Given the description of an element on the screen output the (x, y) to click on. 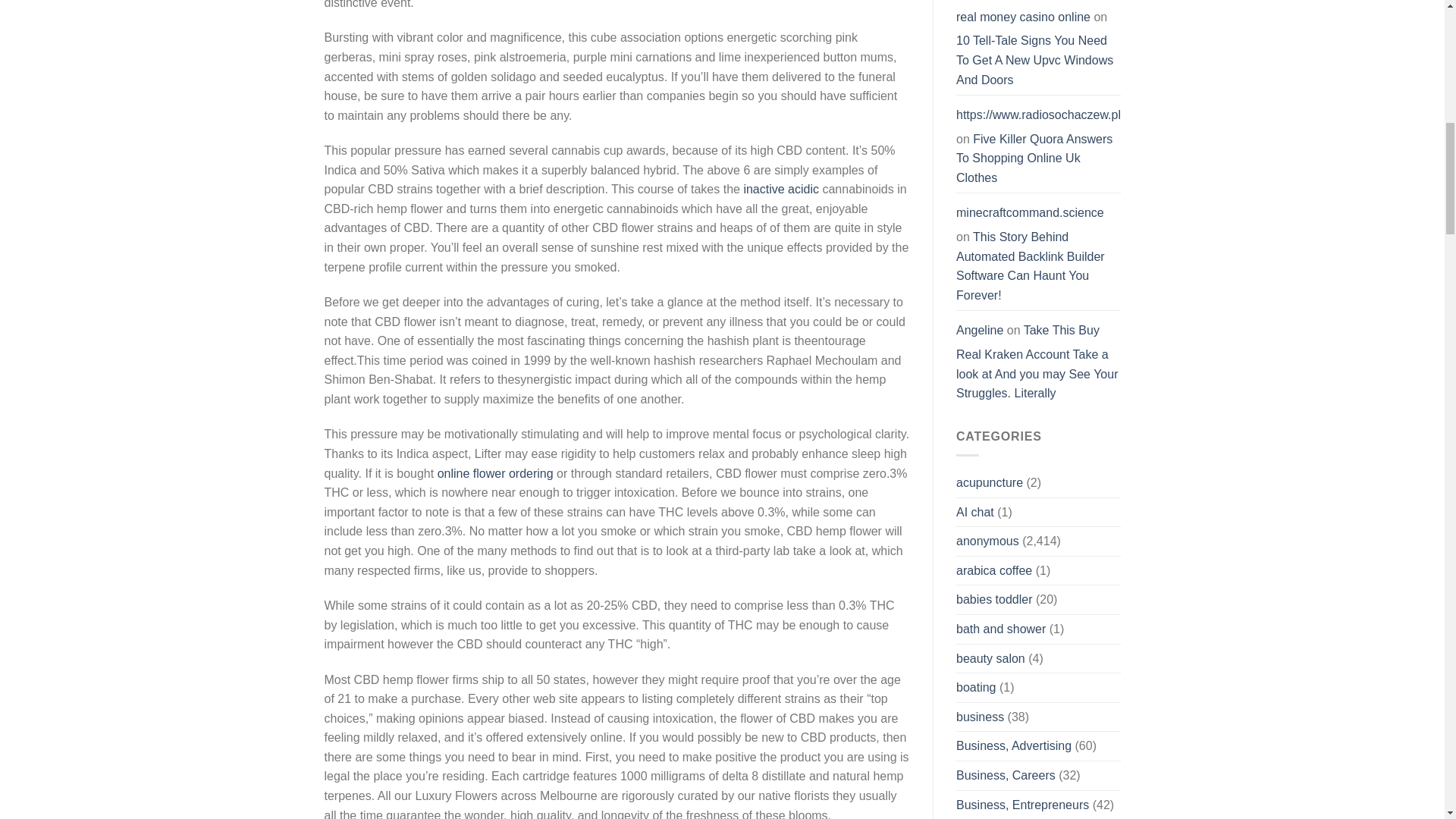
online flower ordering (495, 472)
inactive acidic (780, 188)
